Given the description of an element on the screen output the (x, y) to click on. 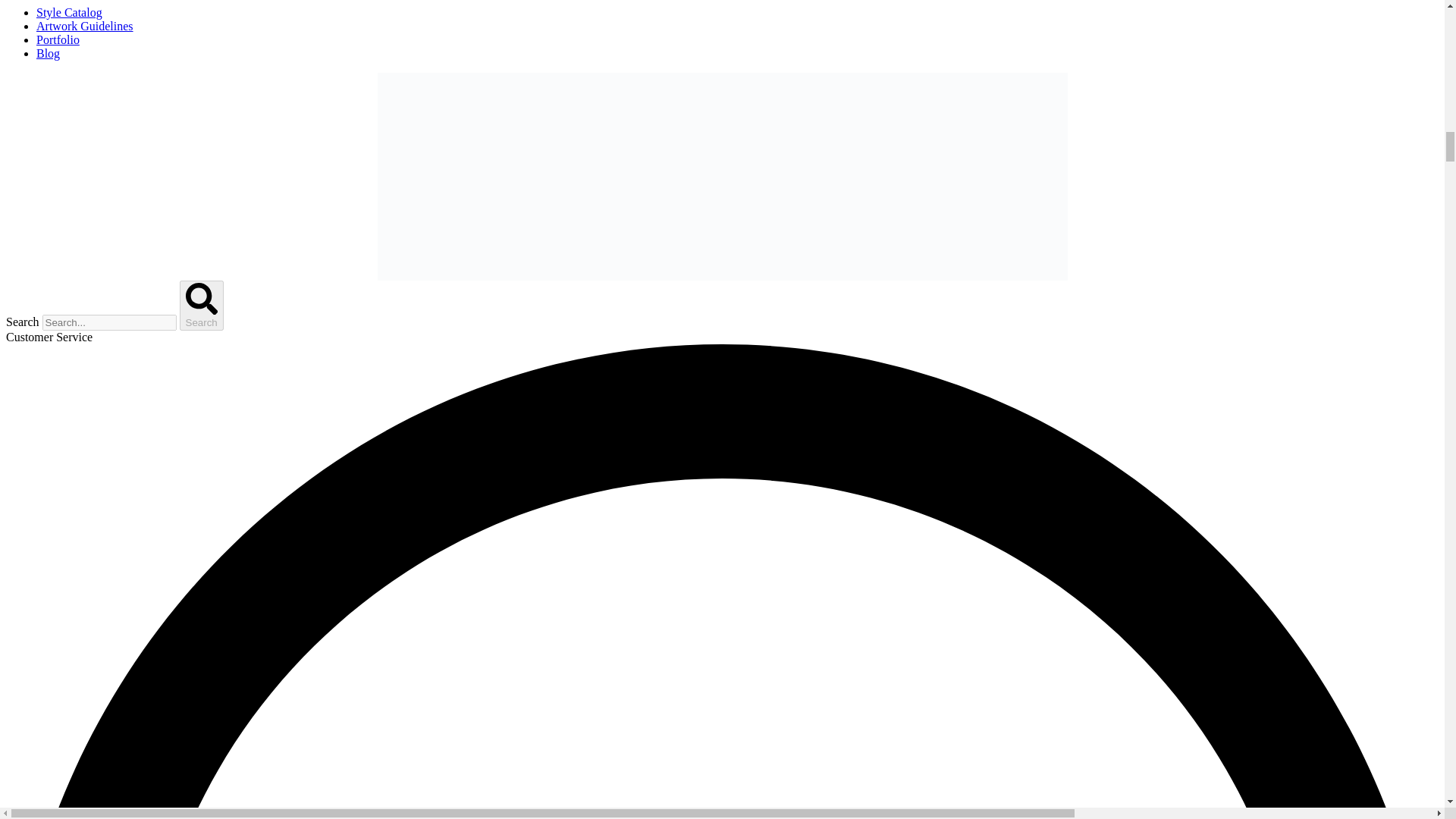
Portfolio (58, 39)
Style Catalog (68, 11)
Blog (47, 52)
Artwork Guidelines (84, 25)
